Given the description of an element on the screen output the (x, y) to click on. 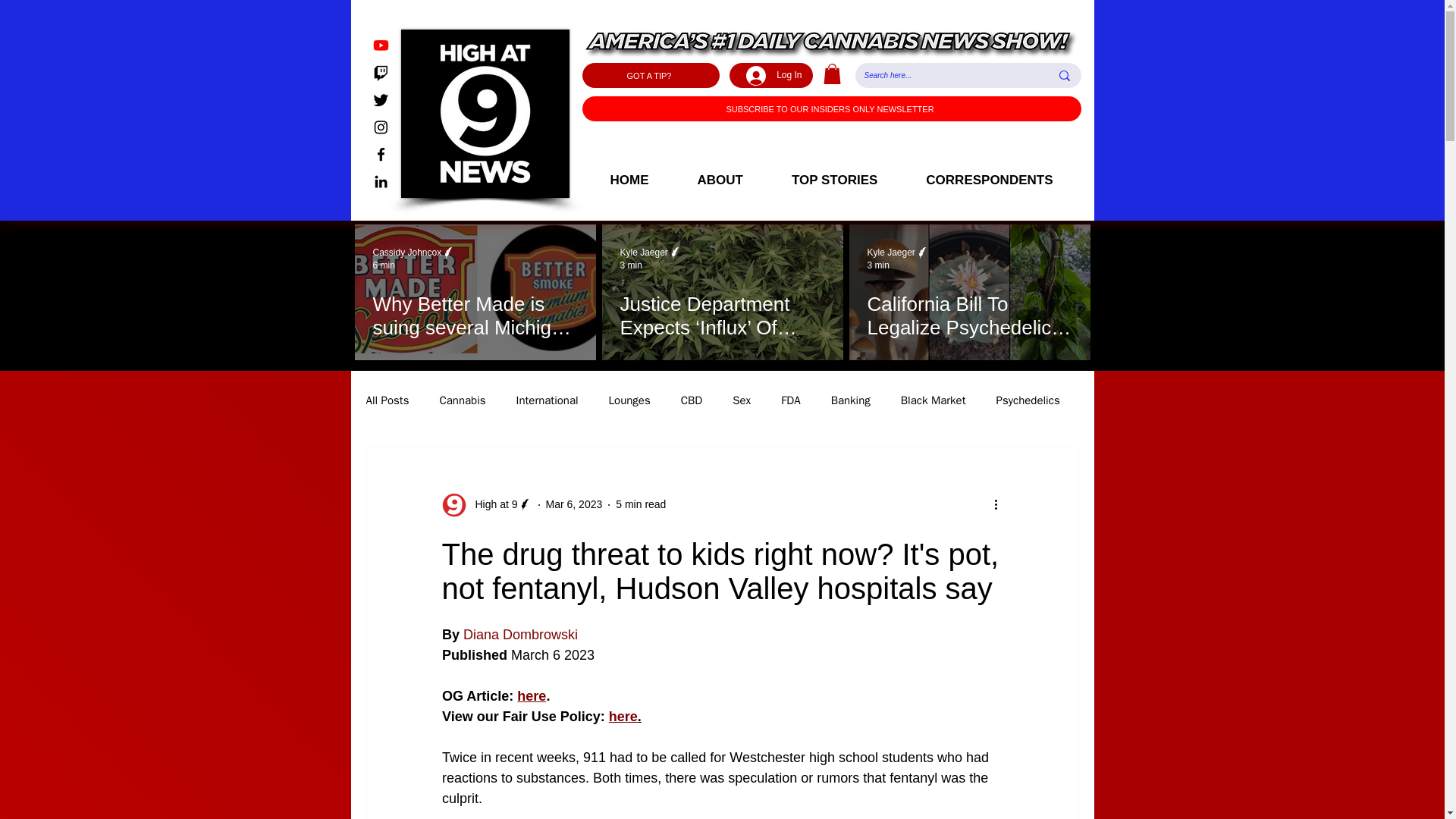
5 min read (640, 503)
Cassidy Johncox (414, 252)
CBD (691, 400)
All Posts (387, 400)
Lounges (629, 400)
TOP STORIES (834, 180)
International (547, 400)
Mar 6, 2023 (574, 503)
SUBSCRIBE TO OUR INSIDERS ONLY NEWSLETTER (831, 108)
ABOUT (719, 180)
FDA (789, 400)
3 min (878, 264)
3 min (631, 264)
CORRESPONDENTS (989, 180)
Cannabis (461, 400)
